Given the description of an element on the screen output the (x, y) to click on. 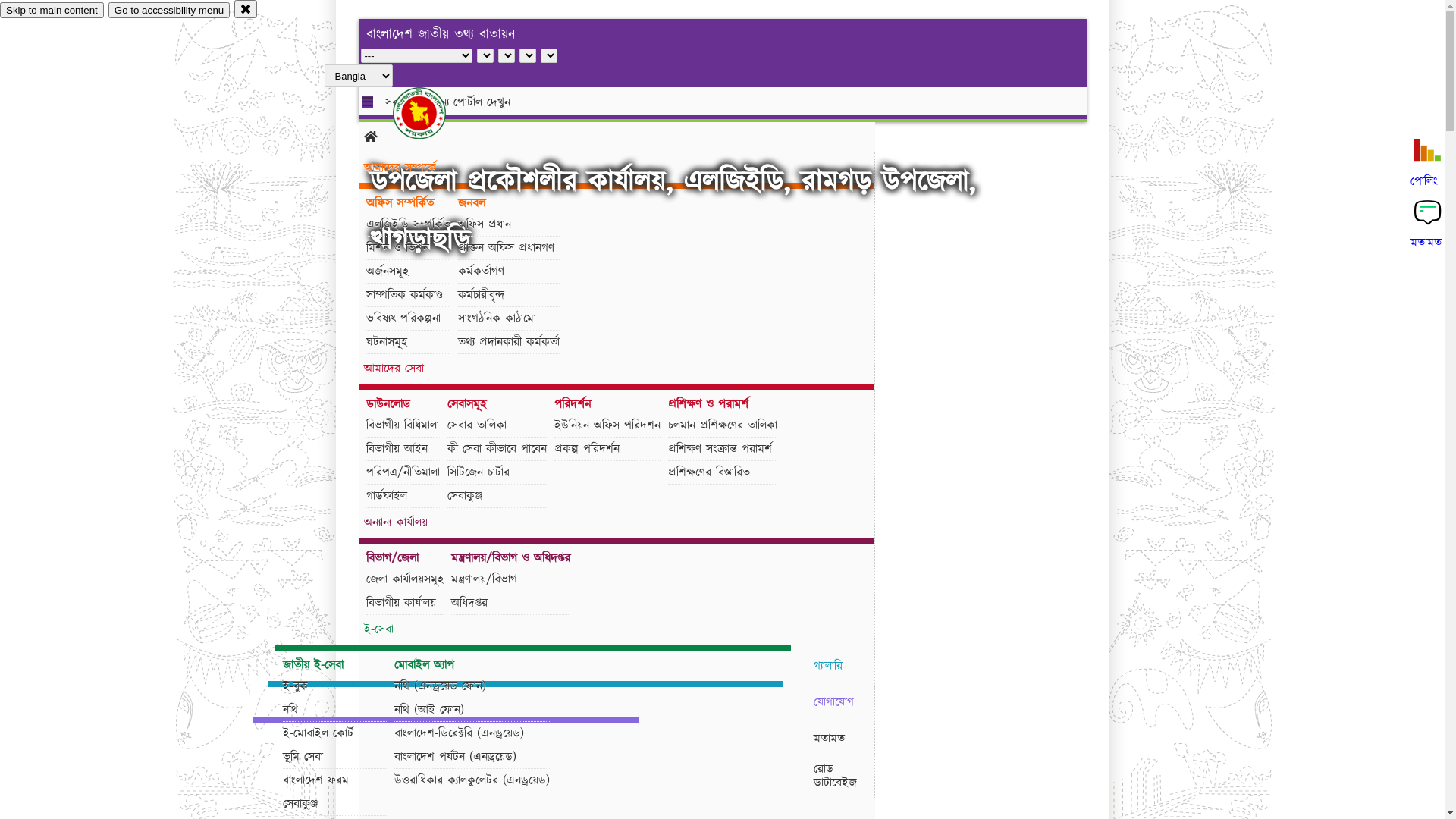
close Element type: hover (245, 9)
Go to accessibility menu Element type: text (168, 10)

                
             Element type: hover (431, 112)
Skip to main content Element type: text (51, 10)
